Given the description of an element on the screen output the (x, y) to click on. 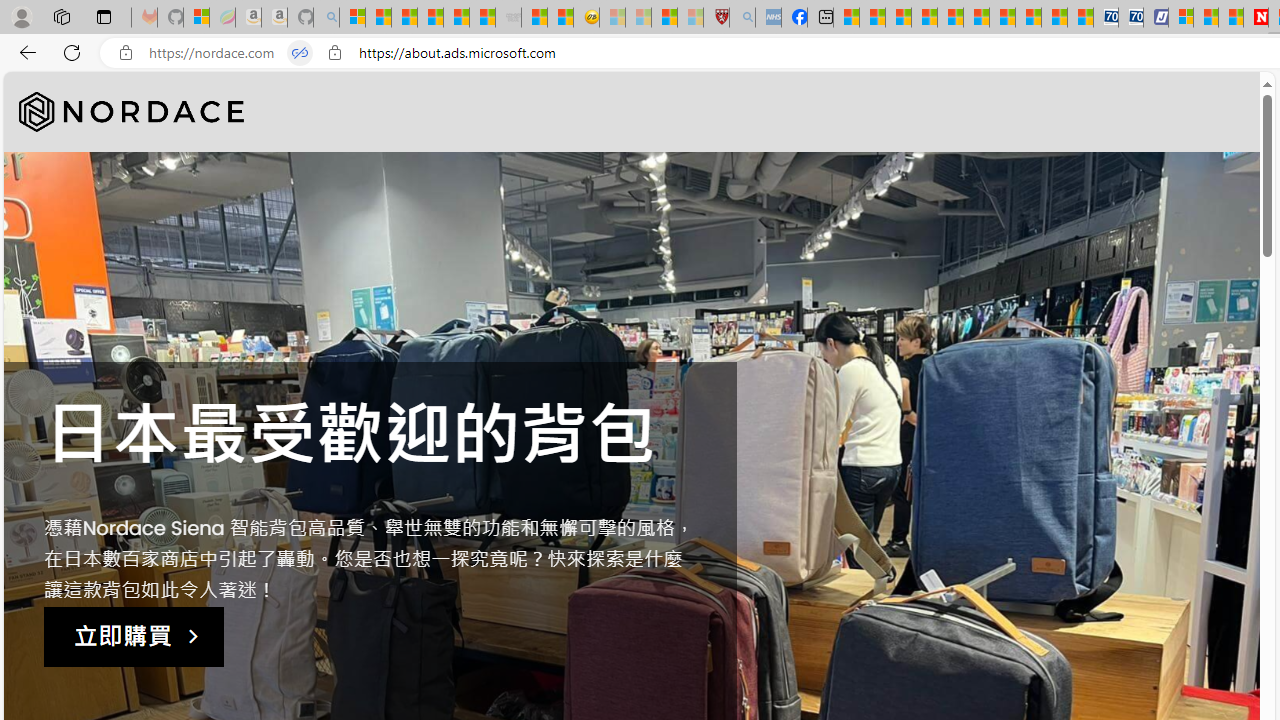
Microsoft-Report a Concern to Bing (196, 17)
Refresh (72, 52)
The Weather Channel - MSN (404, 17)
Cheap Hotels - Save70.com (1130, 17)
Nordace (131, 111)
12 Popular Science Lies that Must be Corrected - Sleeping (690, 17)
Science - MSN (664, 17)
Tabs in split screen (299, 53)
